Given the description of an element on the screen output the (x, y) to click on. 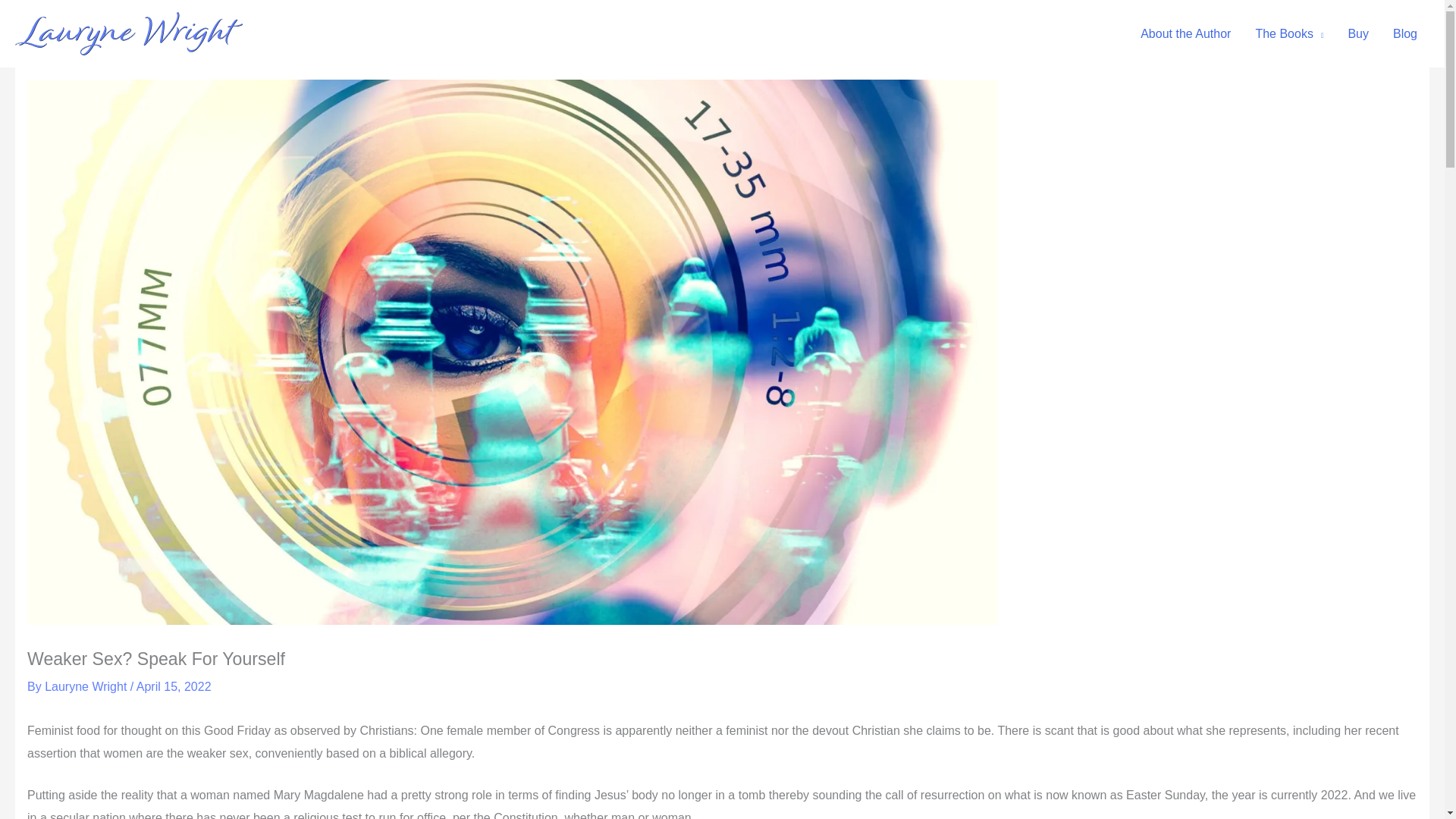
View all posts by Lauryne Wright (88, 686)
Blog (1404, 33)
The Books (1289, 33)
Lauryne Wright (88, 686)
About the Author (1185, 33)
